Given the description of an element on the screen output the (x, y) to click on. 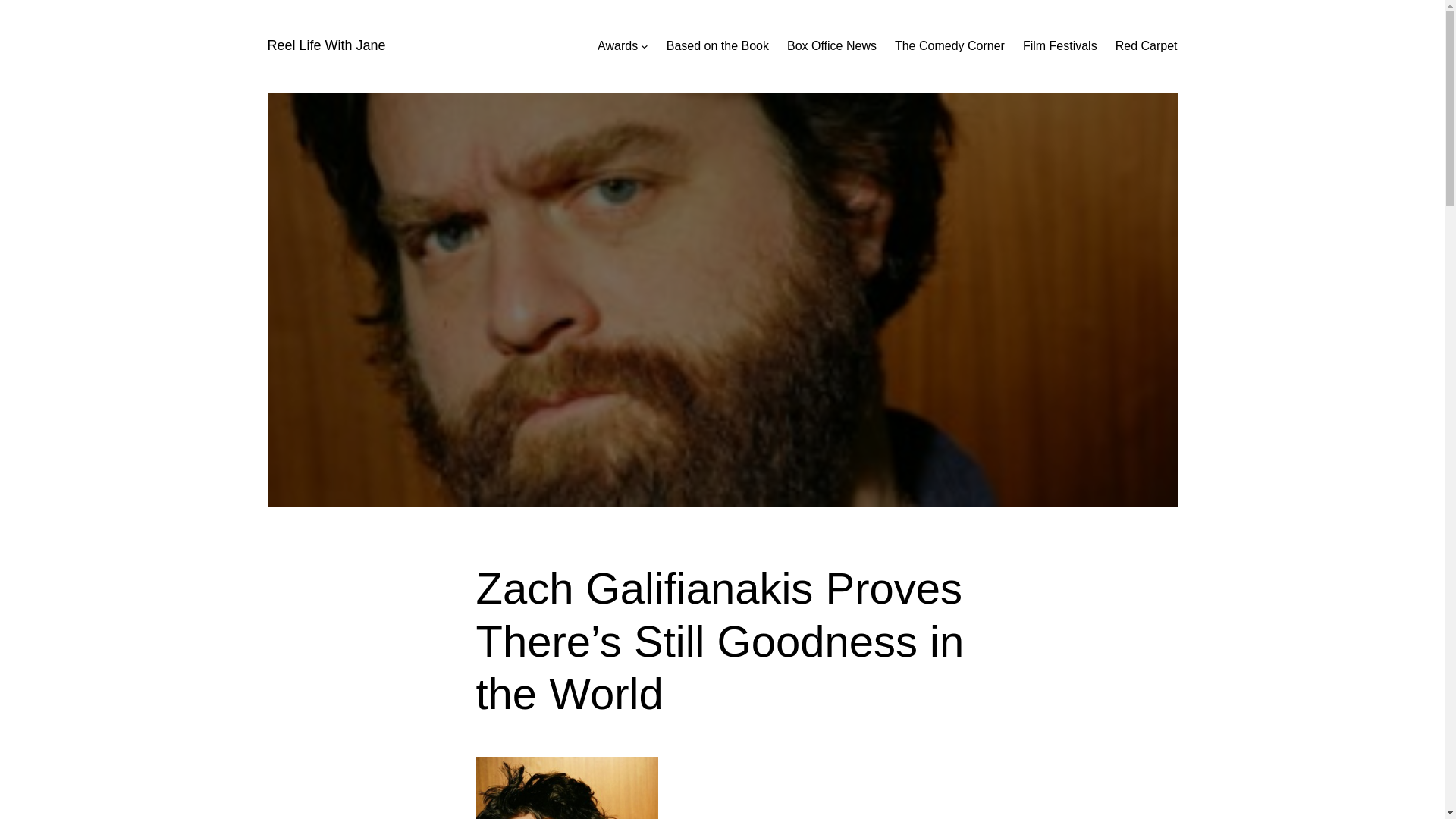
Awards (616, 46)
Reel Life With Jane (325, 45)
The Comedy Corner (949, 46)
Based on the Book (717, 46)
Red Carpet (1146, 46)
Box Office News (831, 46)
Film Festivals (1060, 46)
